Given the description of an element on the screen output the (x, y) to click on. 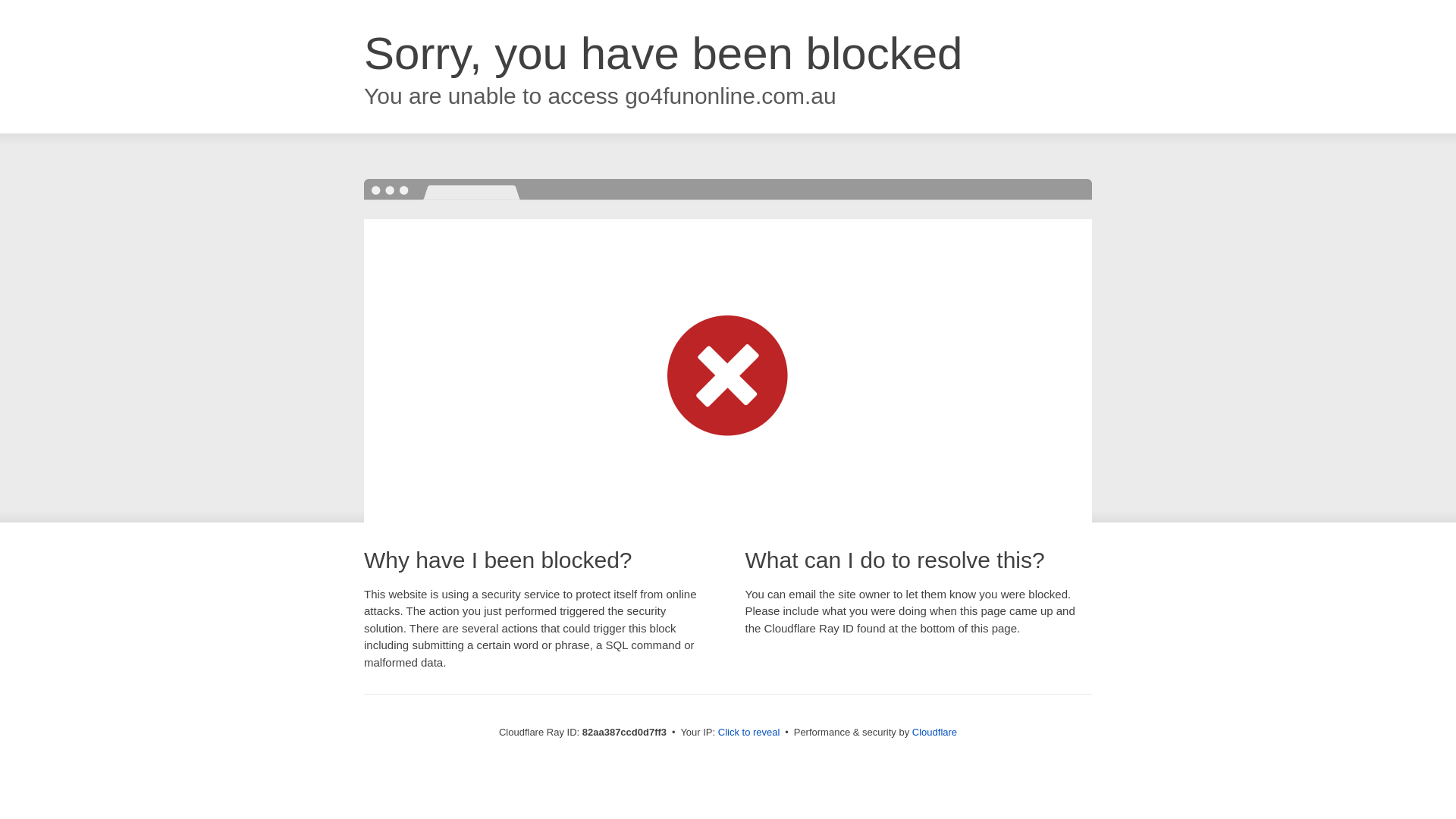
Cloudflare Element type: text (934, 731)
Click to reveal Element type: text (749, 732)
